Given the description of an element on the screen output the (x, y) to click on. 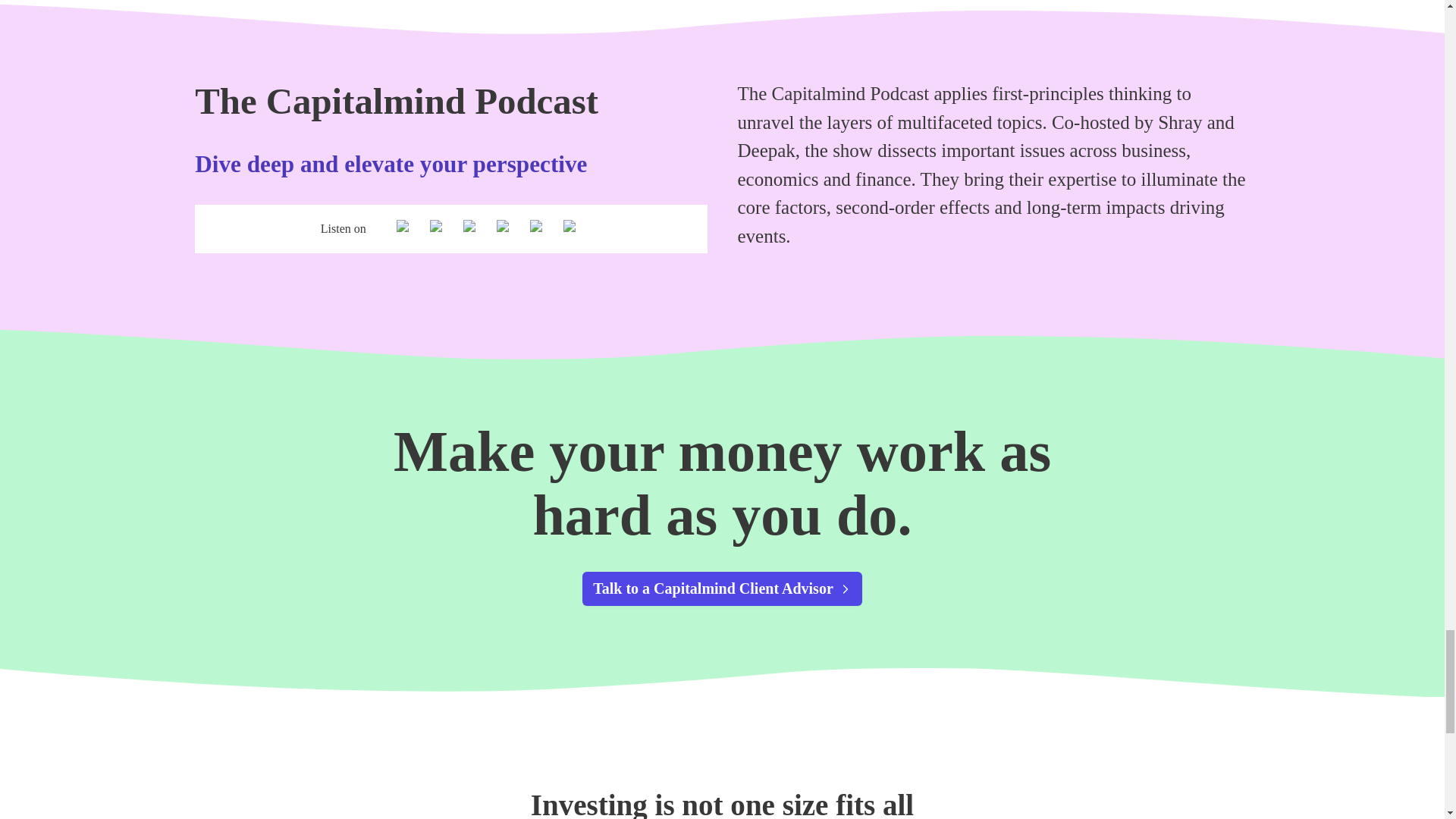
Talk to a Capitalmind Client Advisor (721, 588)
